Given the description of an element on the screen output the (x, y) to click on. 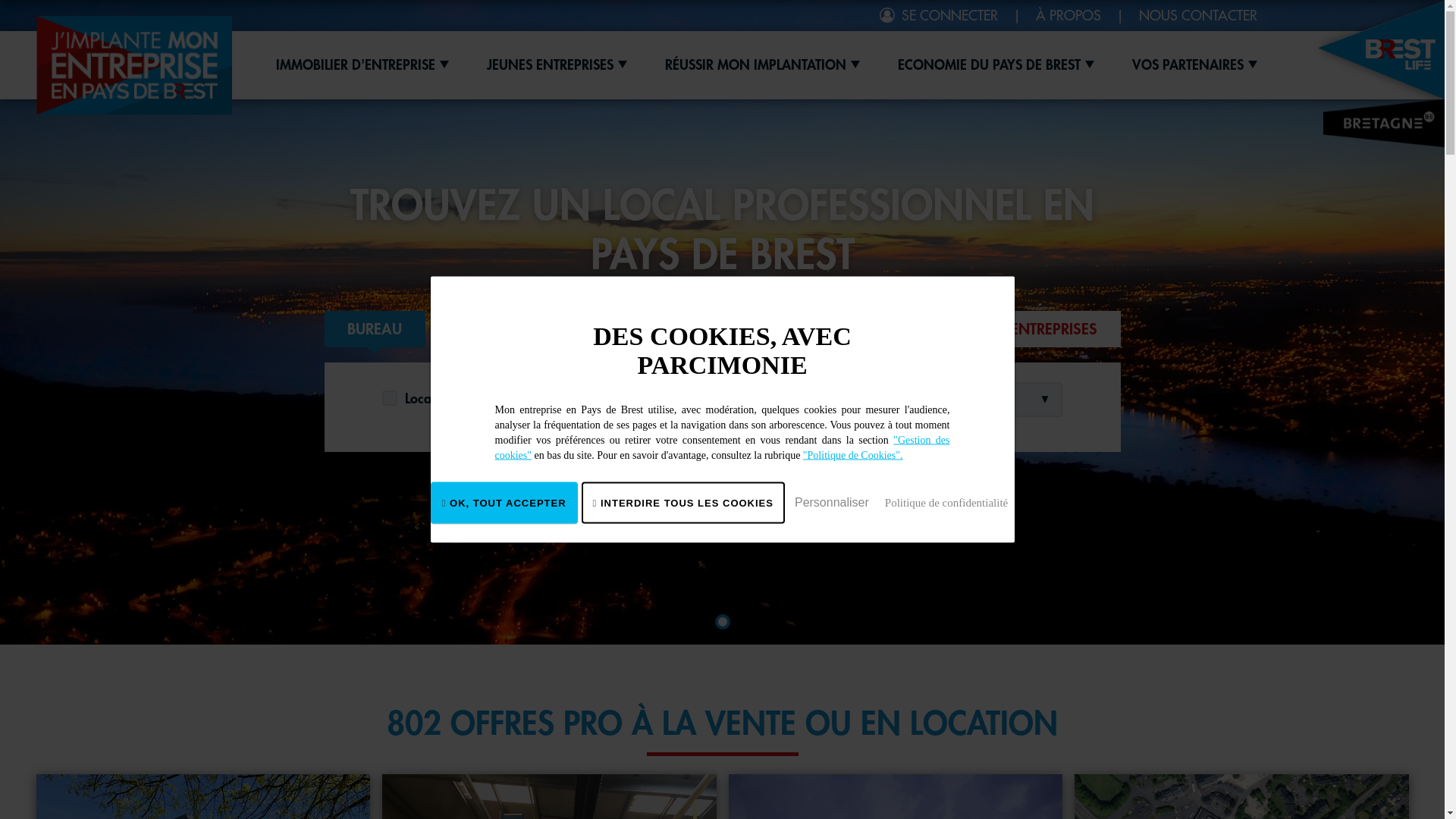
Accueil Element type: hover (134, 64)
ECONOMIE DU PAYS DE BREST Element type: text (995, 65)
JEUNES ENTREPRISES Element type: text (556, 65)
"Gestion des cookies" Element type: text (721, 446)
IMMOBILIER D'ENTREPRISE Element type: text (362, 65)
1 Element type: text (721, 621)
OK, TOUT ACCEPTER Element type: text (503, 503)
NOUS CONTACTER Element type: text (1198, 15)
INTERDIRE TOUS LES COOKIES Element type: text (682, 503)
"Politique de Cookies". Element type: text (853, 454)
VOS PARTENAIRES Element type: text (1193, 65)
RECHERCHER Element type: text (734, 450)
Personnaliser Element type: text (831, 501)
SE CONNECTER Element type: text (938, 15)
